Given the description of an element on the screen output the (x, y) to click on. 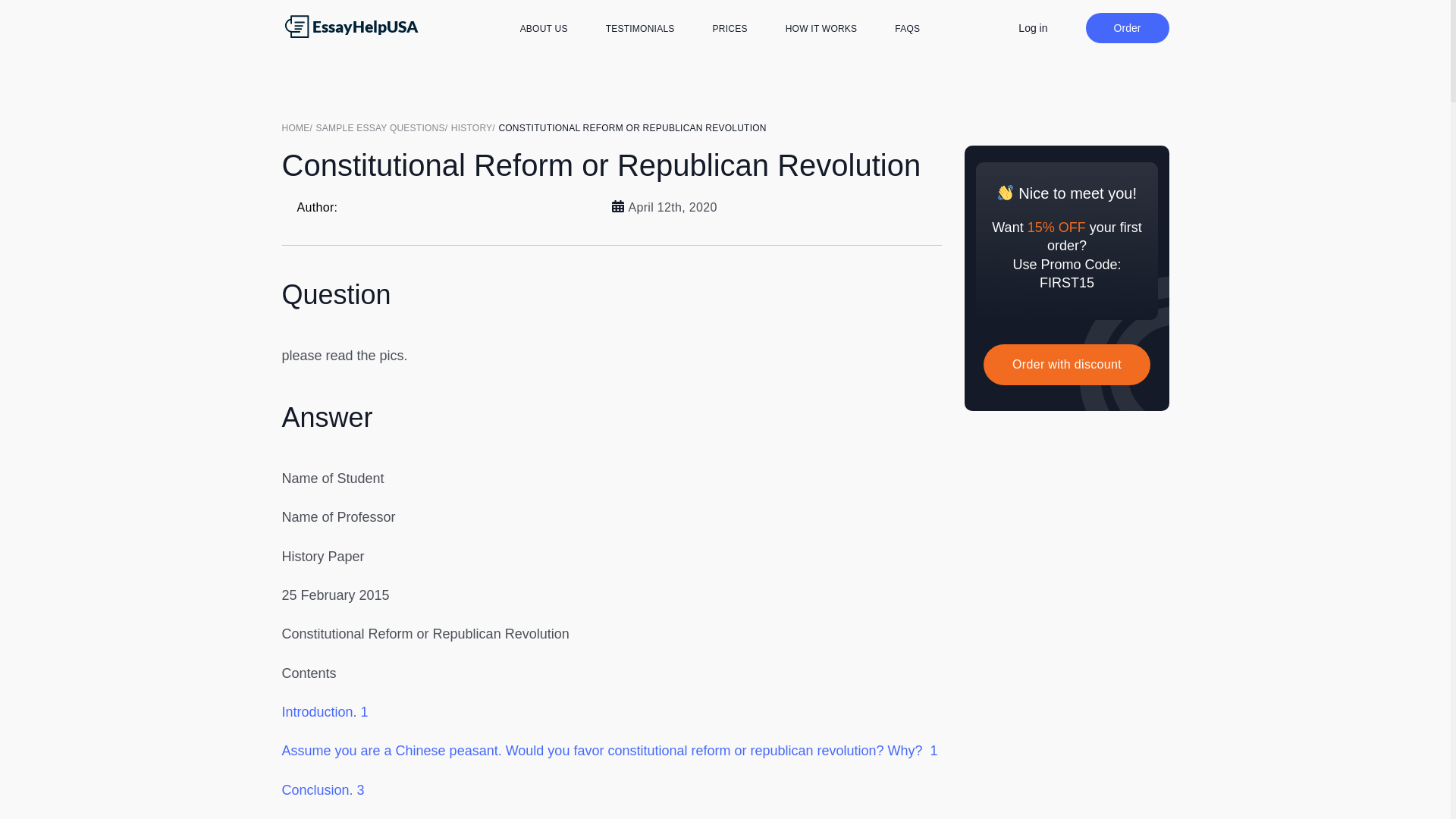
HOME (298, 126)
PRICES (730, 28)
FAQS (907, 28)
Conclusion. 3 (323, 789)
Log in (1031, 27)
Order (1127, 28)
Introduction. 1 (325, 711)
HOW IT WORKS (821, 28)
TESTIMONIALS (640, 28)
Go to Essay Help USA (298, 126)
ABOUT US (543, 28)
Order with discount (1066, 363)
